Given the description of an element on the screen output the (x, y) to click on. 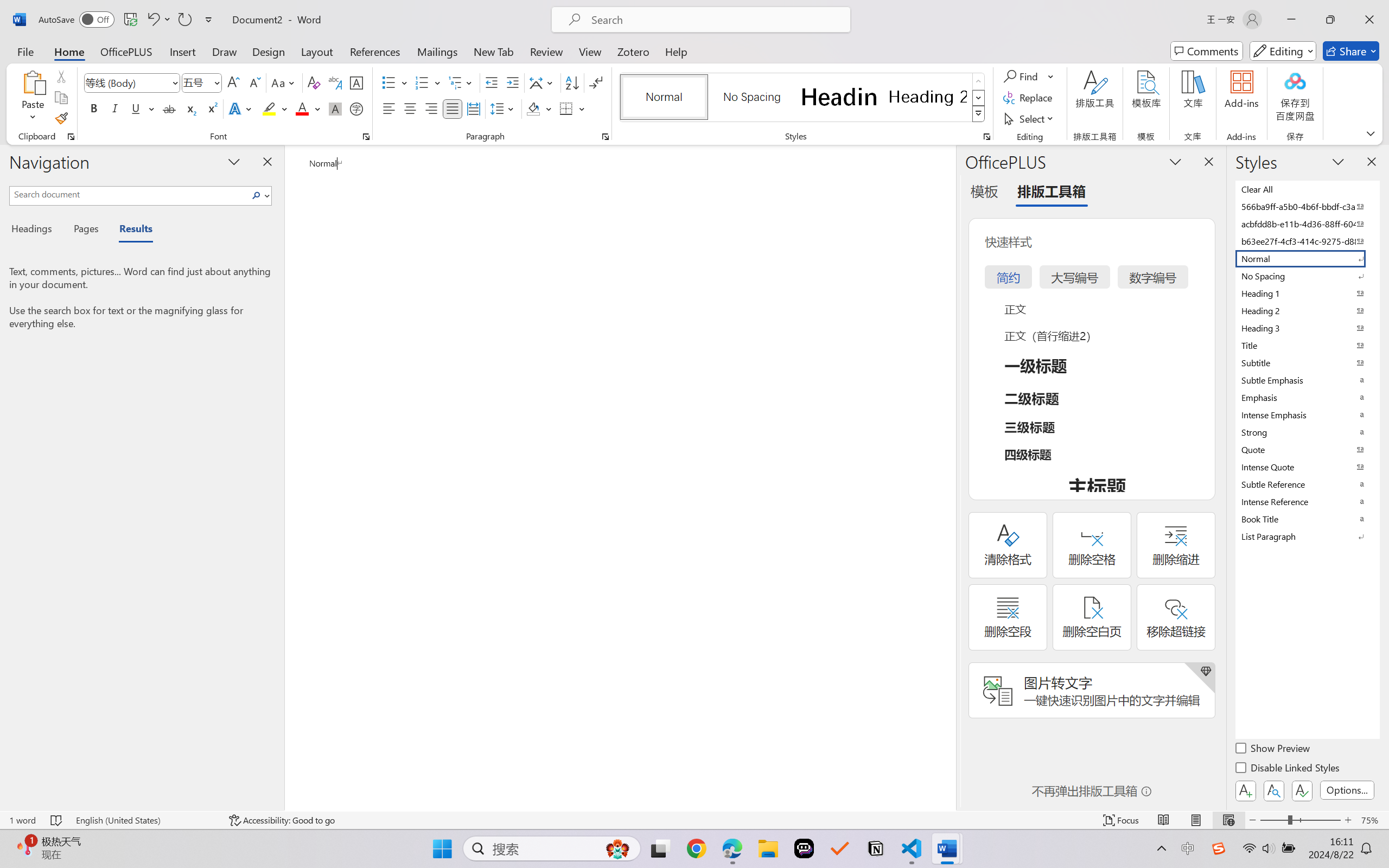
Class: NetUIImage (978, 114)
Font Color (308, 108)
Mailings (437, 51)
Decrease Indent (491, 82)
Help (675, 51)
Headings (35, 229)
Phonetic Guide... (334, 82)
Shading (539, 108)
Align Right (431, 108)
Undo Apply Quick Style (152, 19)
Select (1030, 118)
Office Clipboard... (70, 136)
